Given the description of an element on the screen output the (x, y) to click on. 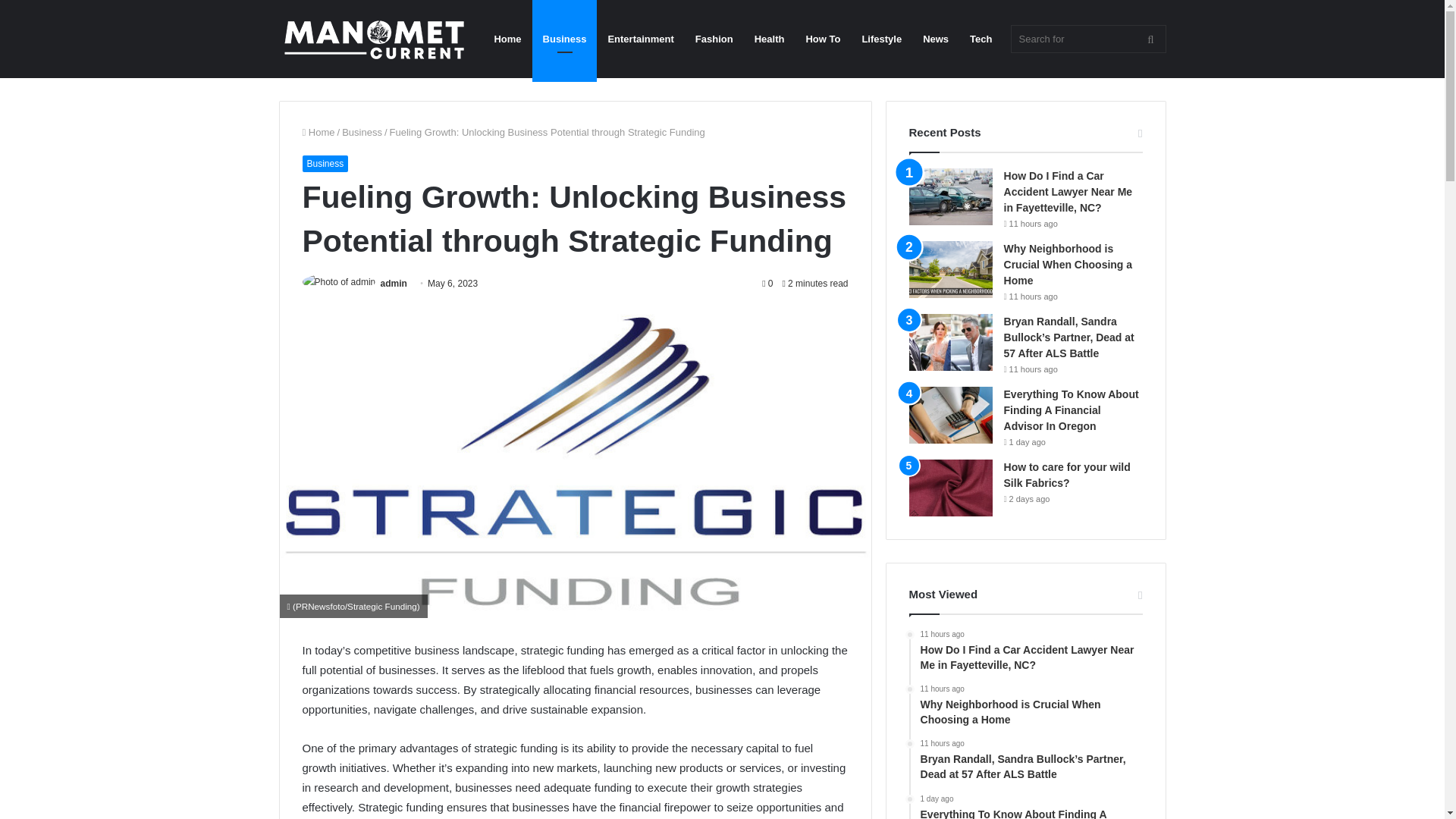
Entertainment (640, 38)
Business (361, 132)
Search for (1088, 39)
admin (393, 283)
Home (317, 132)
admin (393, 283)
Business (324, 163)
Manometcurrent (373, 39)
